Given the description of an element on the screen output the (x, y) to click on. 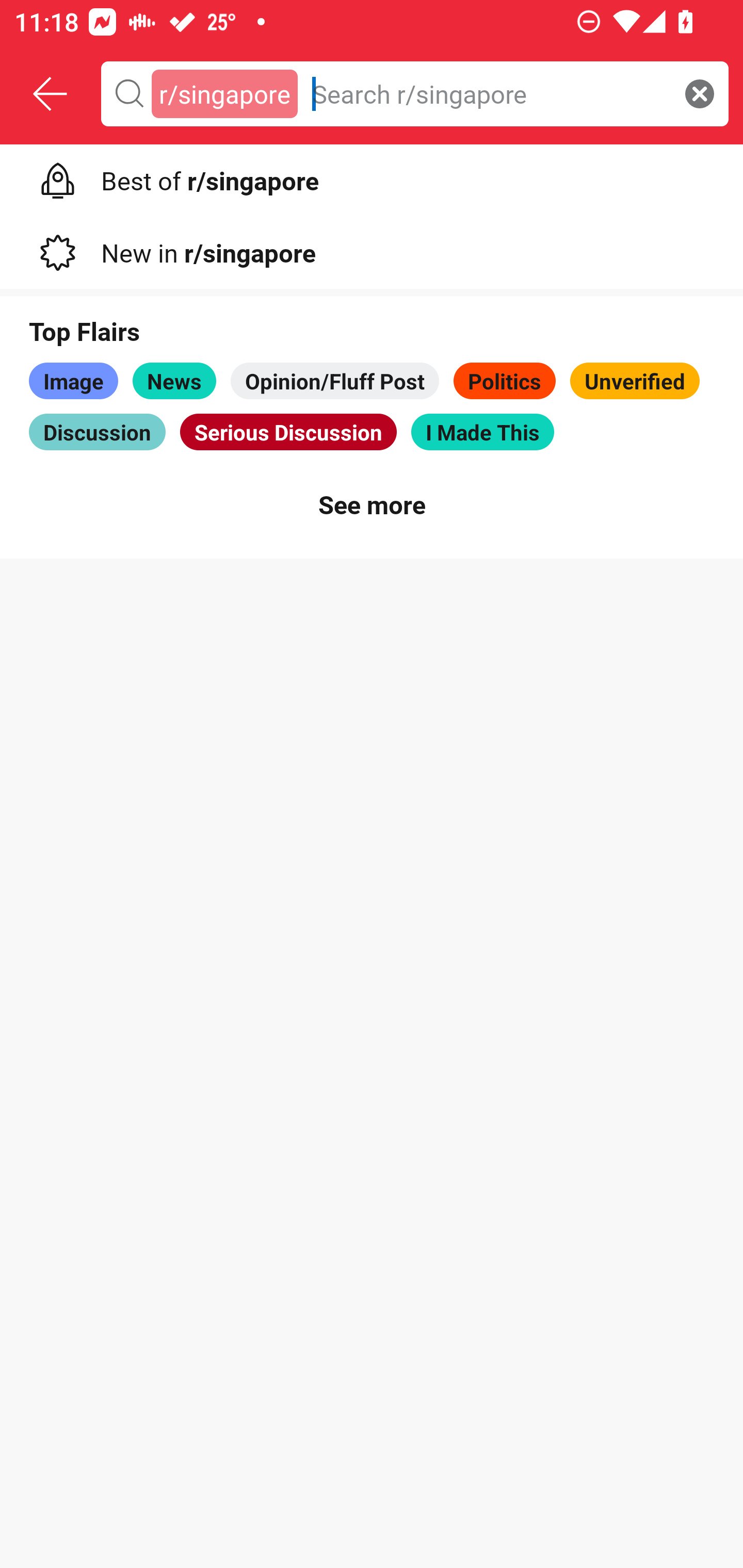
Back (50, 93)
Search r/singapore (487, 93)
Clear search (699, 93)
r/singapore (224, 92)
Best of  r/singapore (371, 177)
New in  r/singapore (371, 249)
See more (371, 503)
